Given the description of an element on the screen output the (x, y) to click on. 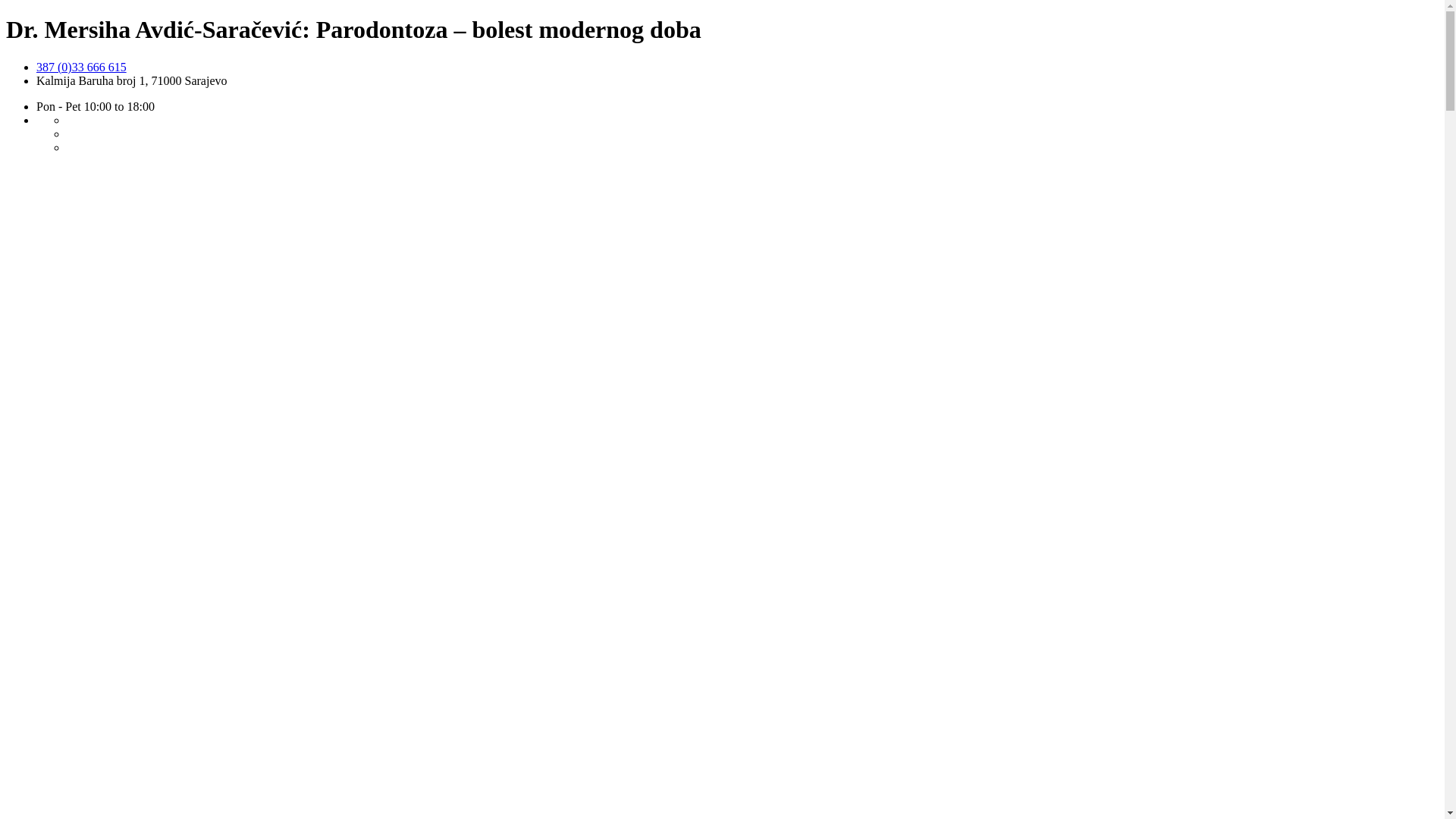
387 (0)33 666 615 Element type: text (81, 66)
Skip to content Element type: text (5, 59)
